Given the description of an element on the screen output the (x, y) to click on. 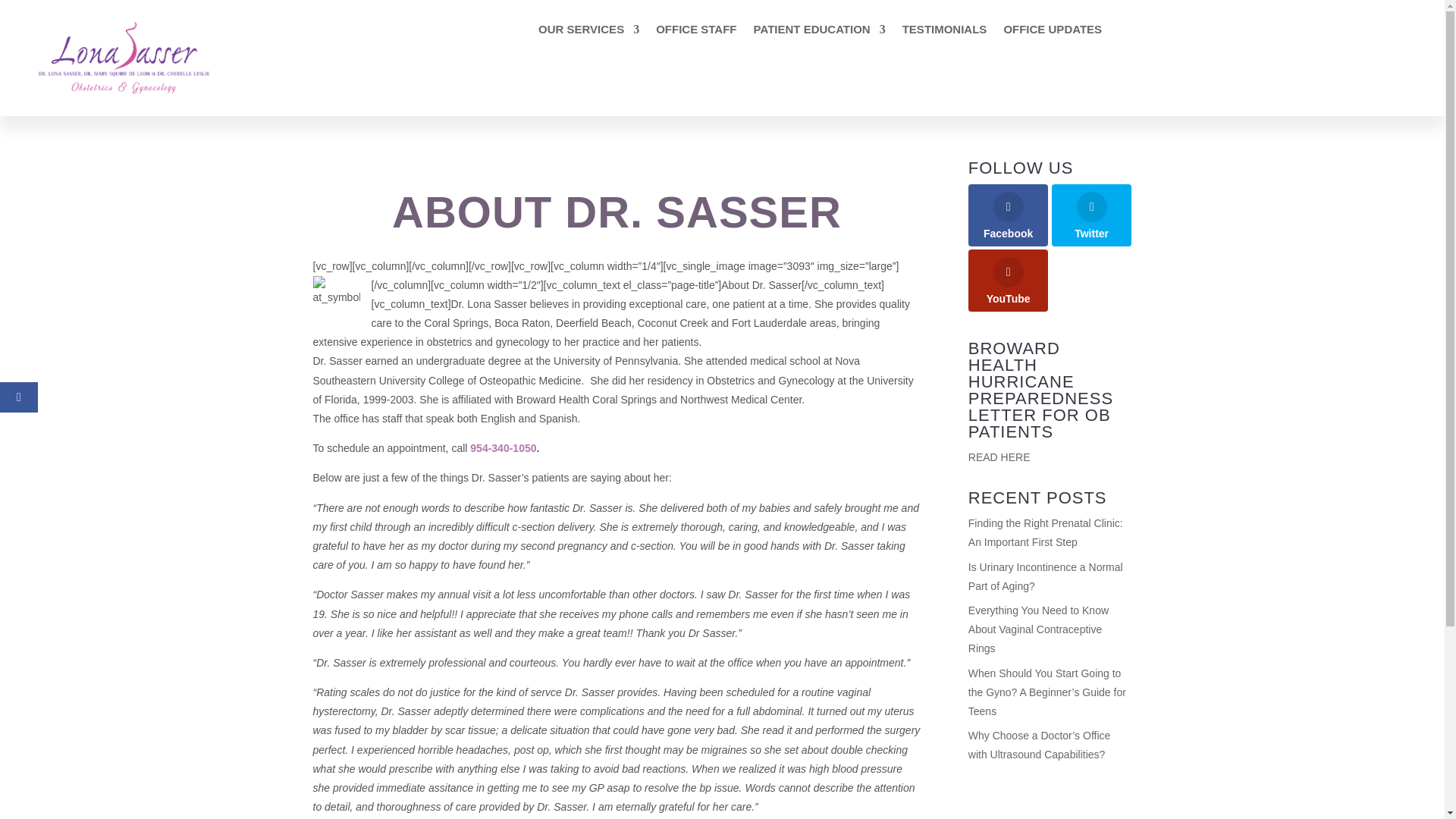
TESTIMONIALS (944, 32)
READ HERE (999, 457)
Finding the Right Prenatal Clinic: An Important First Step (1045, 531)
YouTube (1008, 280)
OFFICE STAFF (696, 32)
Twitter (1091, 215)
OFFICE UPDATES (1052, 32)
954-340-1050 (502, 448)
Facebook (1008, 215)
